Given the description of an element on the screen output the (x, y) to click on. 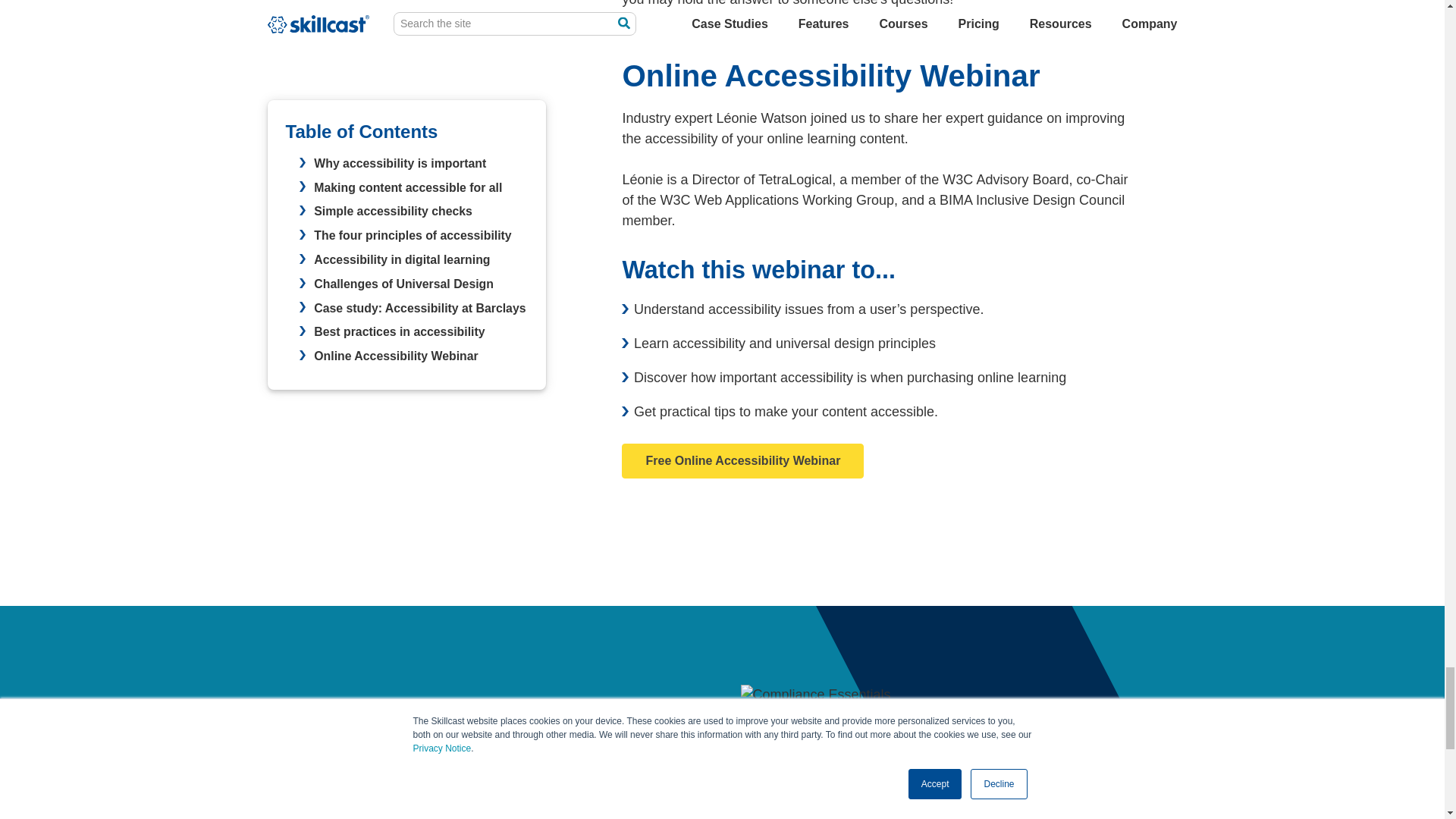
Free Online Accessibility Webinar (742, 460)
